Given the description of an element on the screen output the (x, y) to click on. 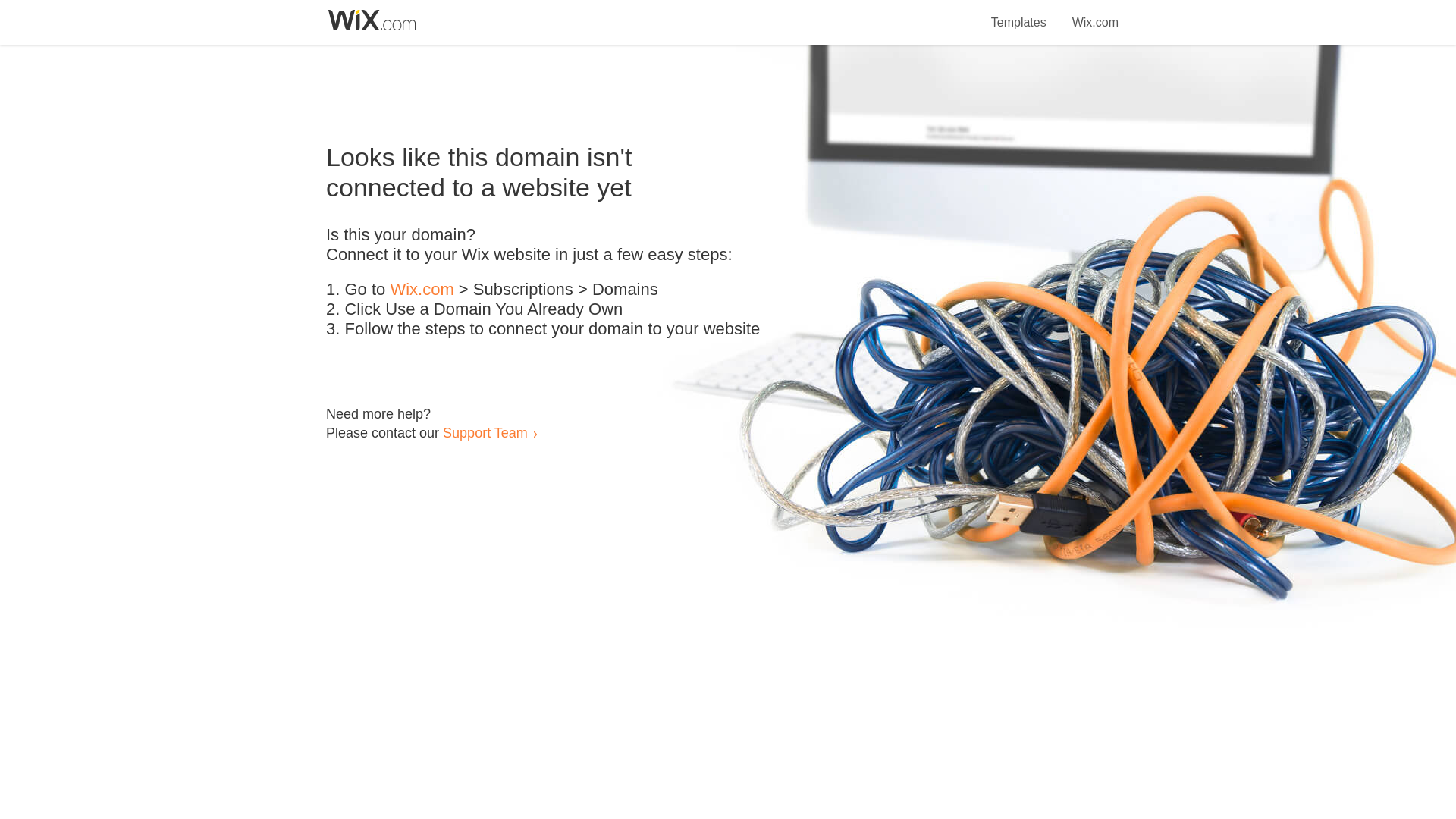
Wix.com (421, 289)
Wix.com (1095, 14)
Support Team (484, 432)
Templates (1018, 14)
